Given the description of an element on the screen output the (x, y) to click on. 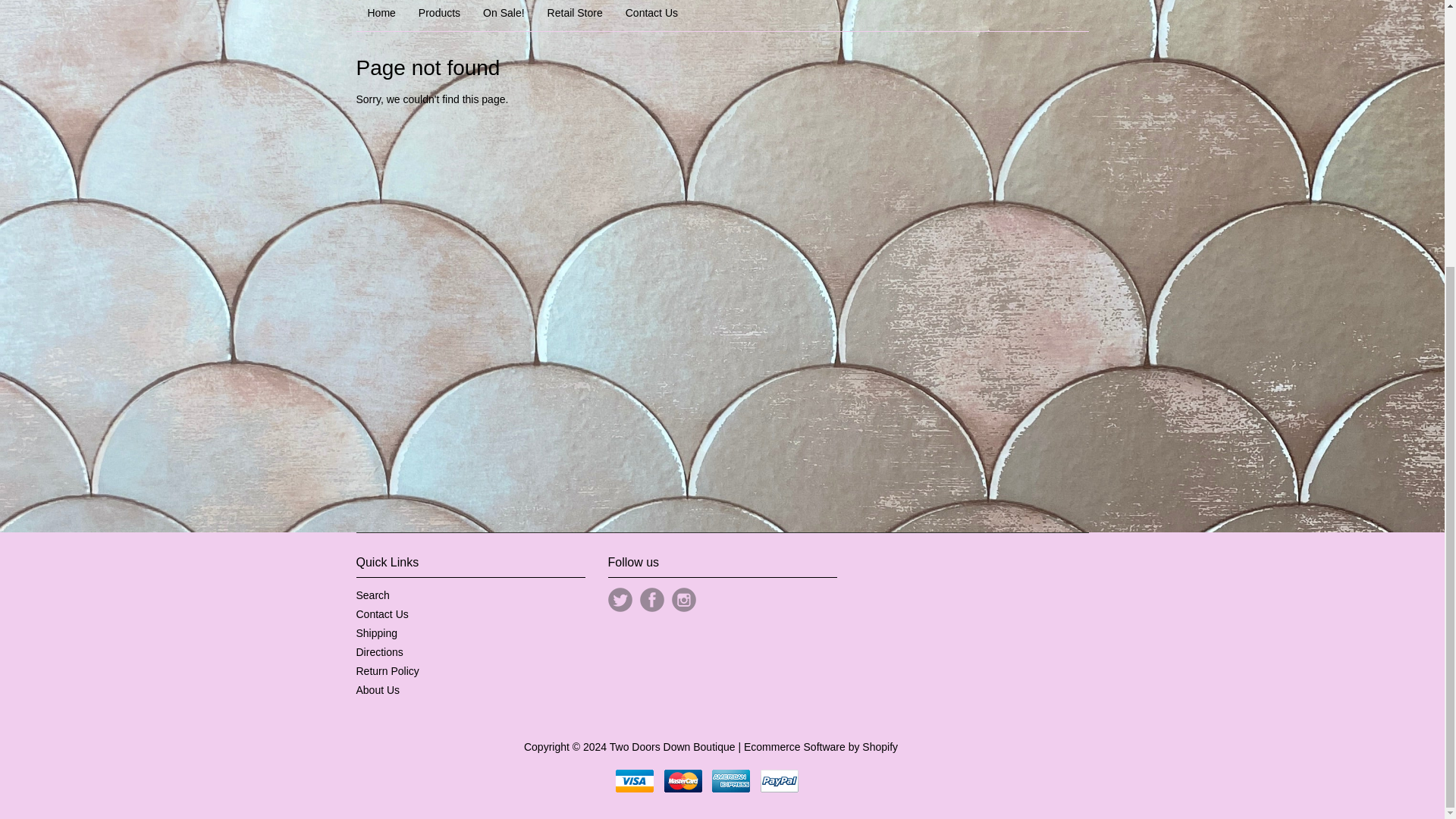
Retail Store (574, 15)
Directions (379, 652)
About Us (378, 689)
Ecommerce Software by Shopify (821, 746)
Instagram (683, 599)
Home (381, 15)
Twitter (619, 599)
Shipping (376, 633)
Return Policy (387, 671)
Two Doors Down Boutique on Instagram (683, 599)
Facebook (651, 599)
Contact Us (382, 613)
Contact Us (651, 15)
Shipping (376, 633)
About Us (378, 689)
